Given the description of an element on the screen output the (x, y) to click on. 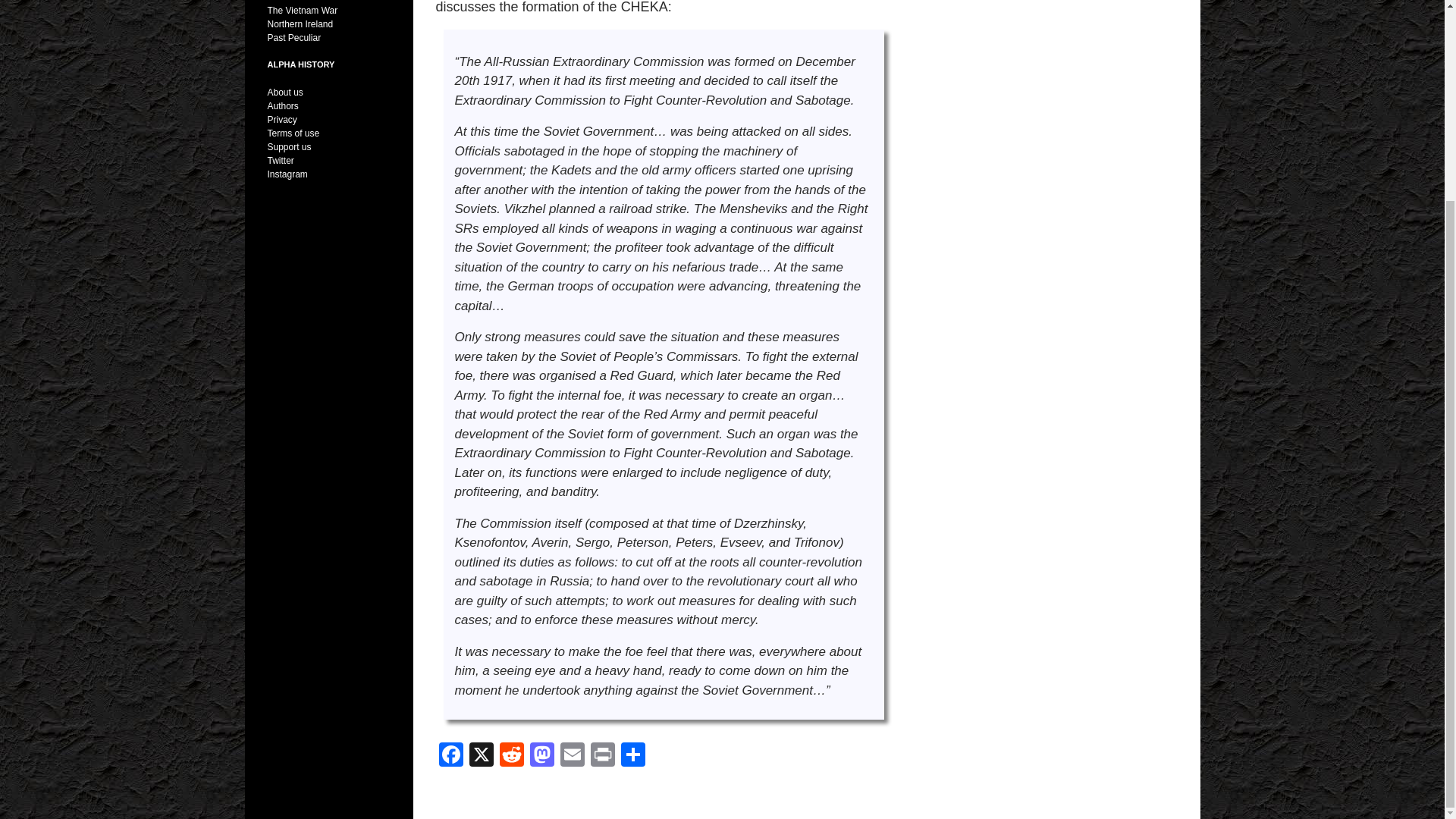
Facebook (450, 756)
Reddit (510, 756)
X (480, 756)
Email (571, 756)
Mastodon (540, 756)
Print (601, 756)
